Given the description of an element on the screen output the (x, y) to click on. 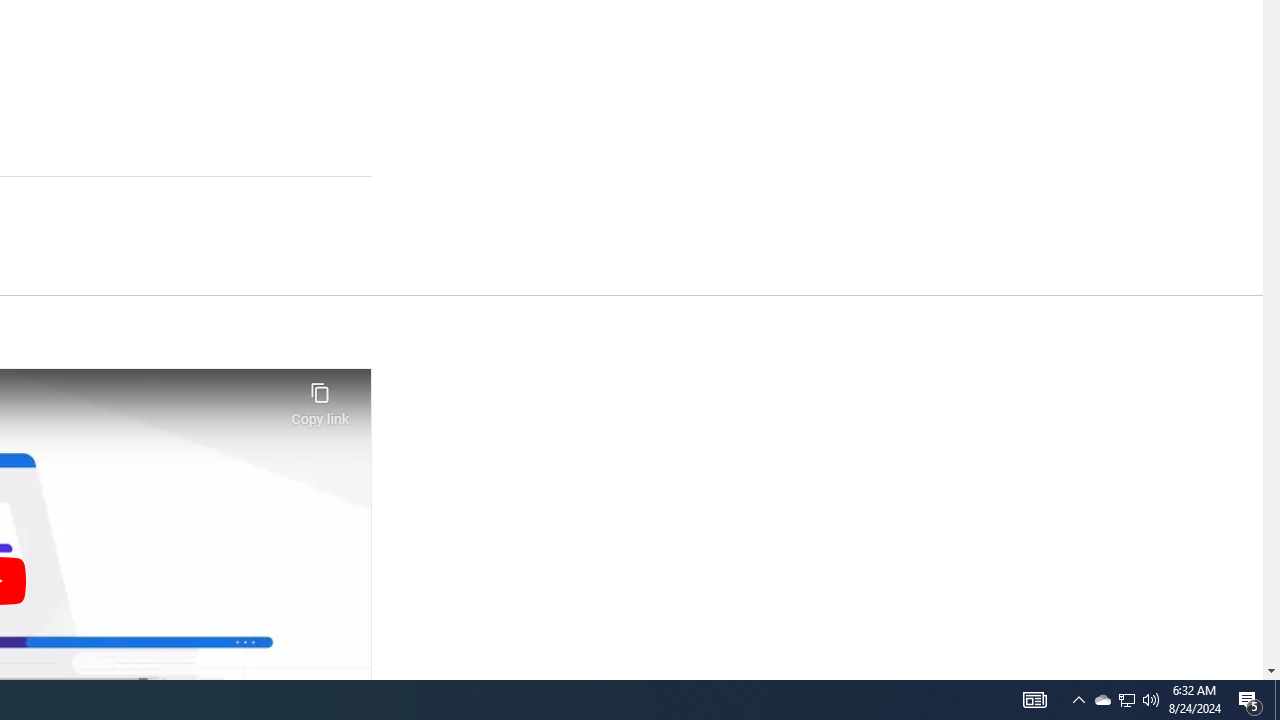
Copy link (319, 398)
